Given the description of an element on the screen output the (x, y) to click on. 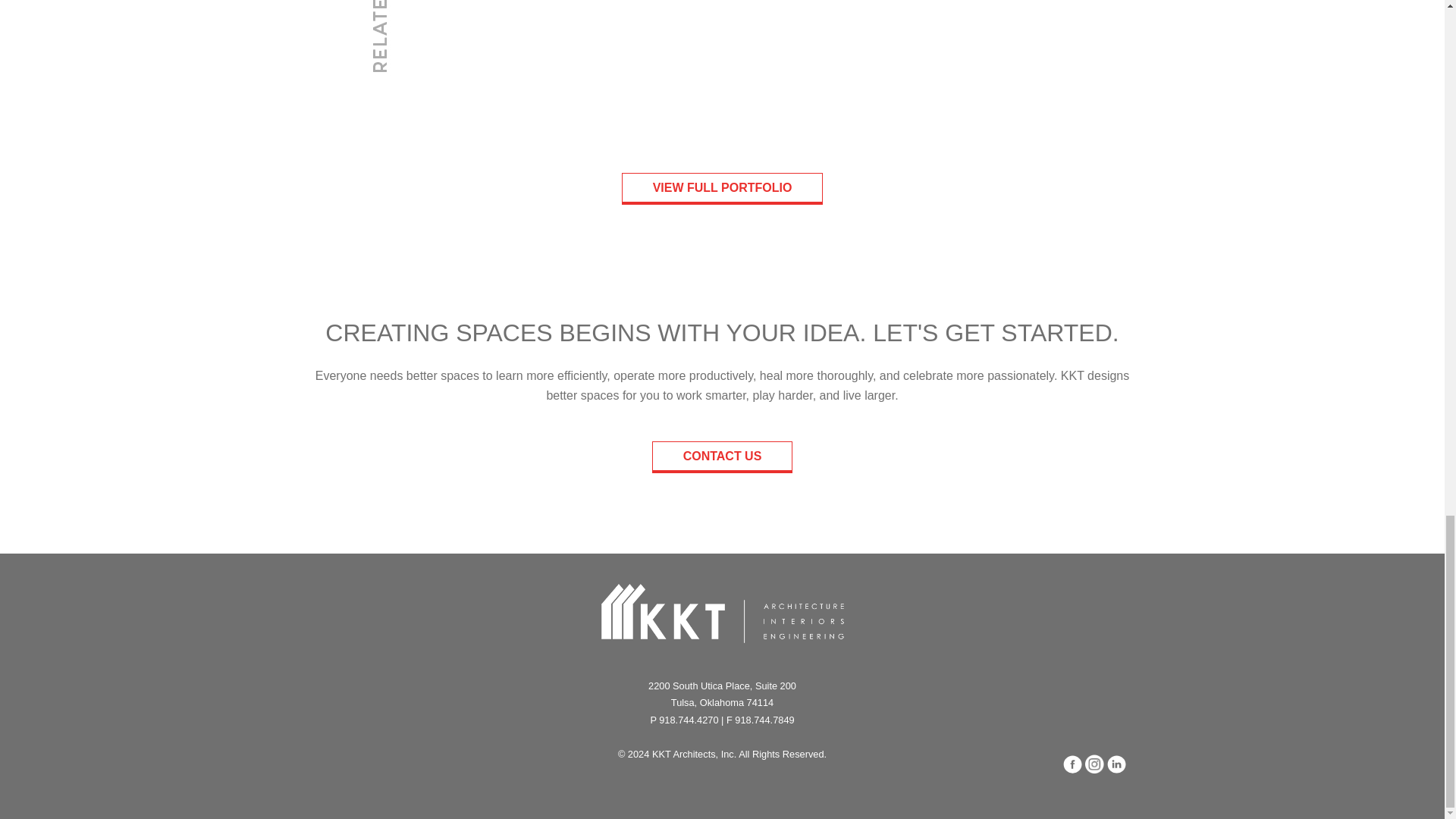
Instagram (1093, 764)
918.744.4270 (688, 719)
VIEW FULL PORTFOLIO (722, 188)
LinkedIn (1115, 764)
CONTACT US (722, 457)
Facebook (1071, 764)
